Given the description of an element on the screen output the (x, y) to click on. 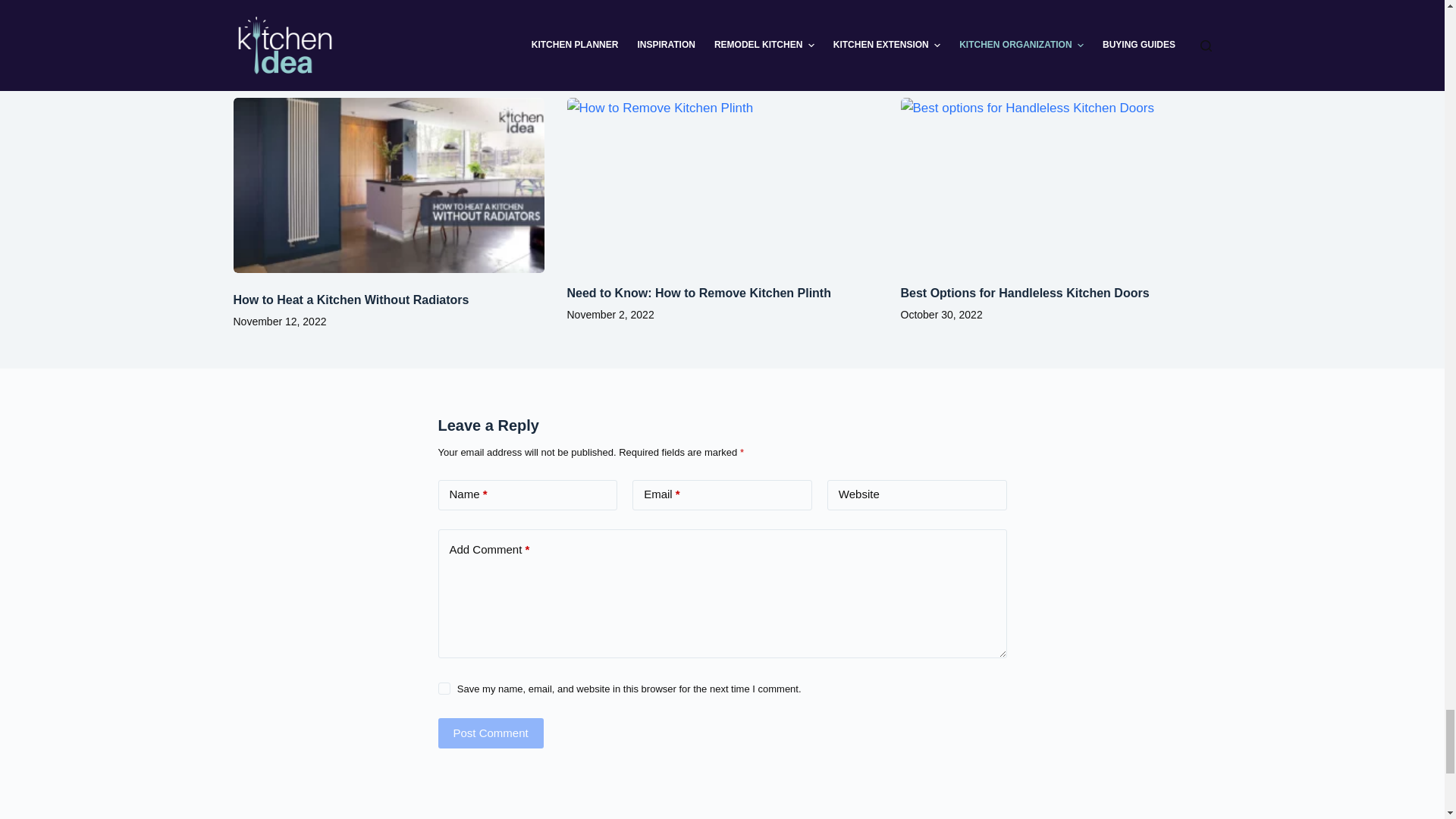
yes (443, 688)
